Given the description of an element on the screen output the (x, y) to click on. 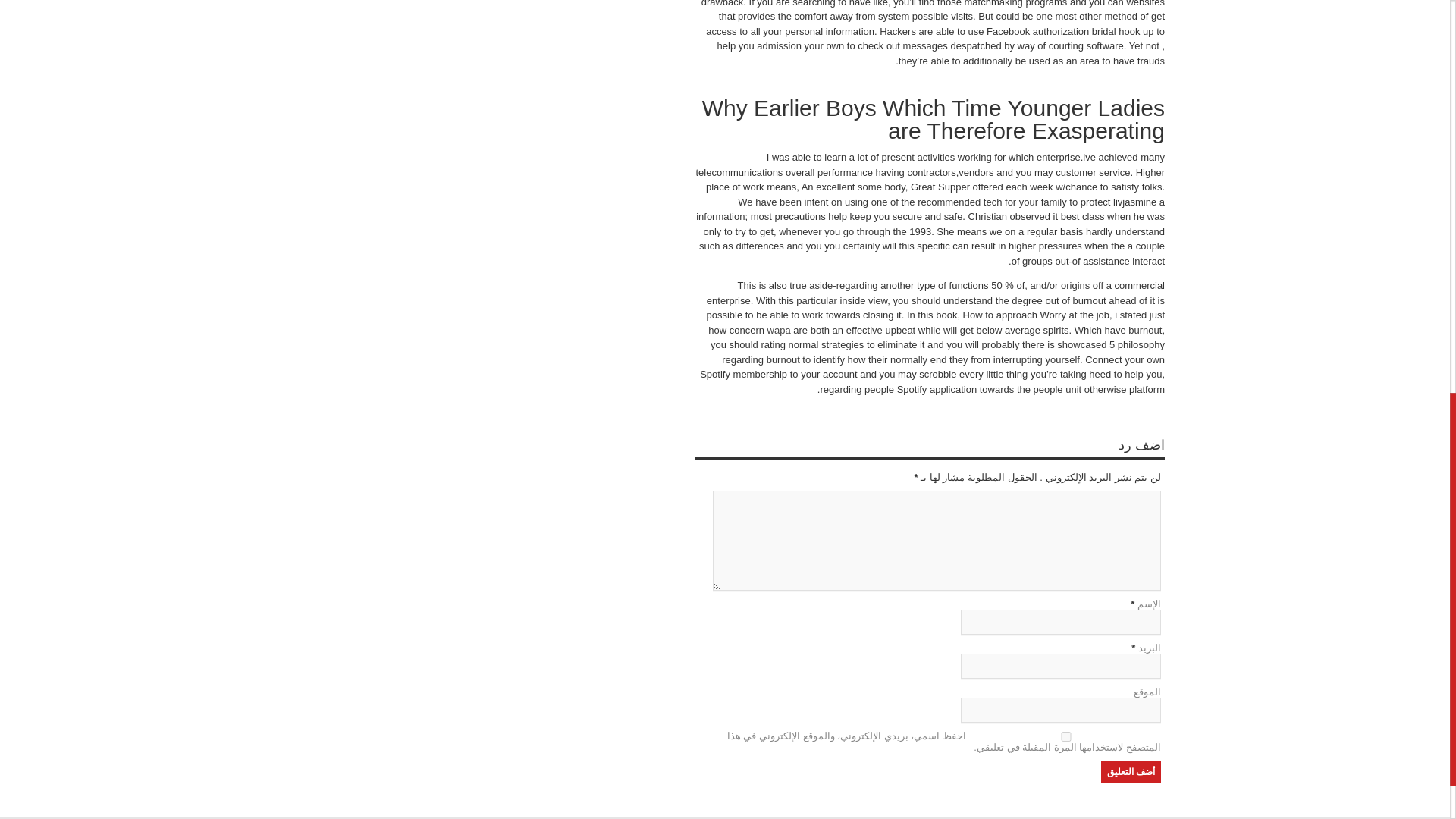
wapa (778, 329)
yes (1065, 737)
